Given the description of an element on the screen output the (x, y) to click on. 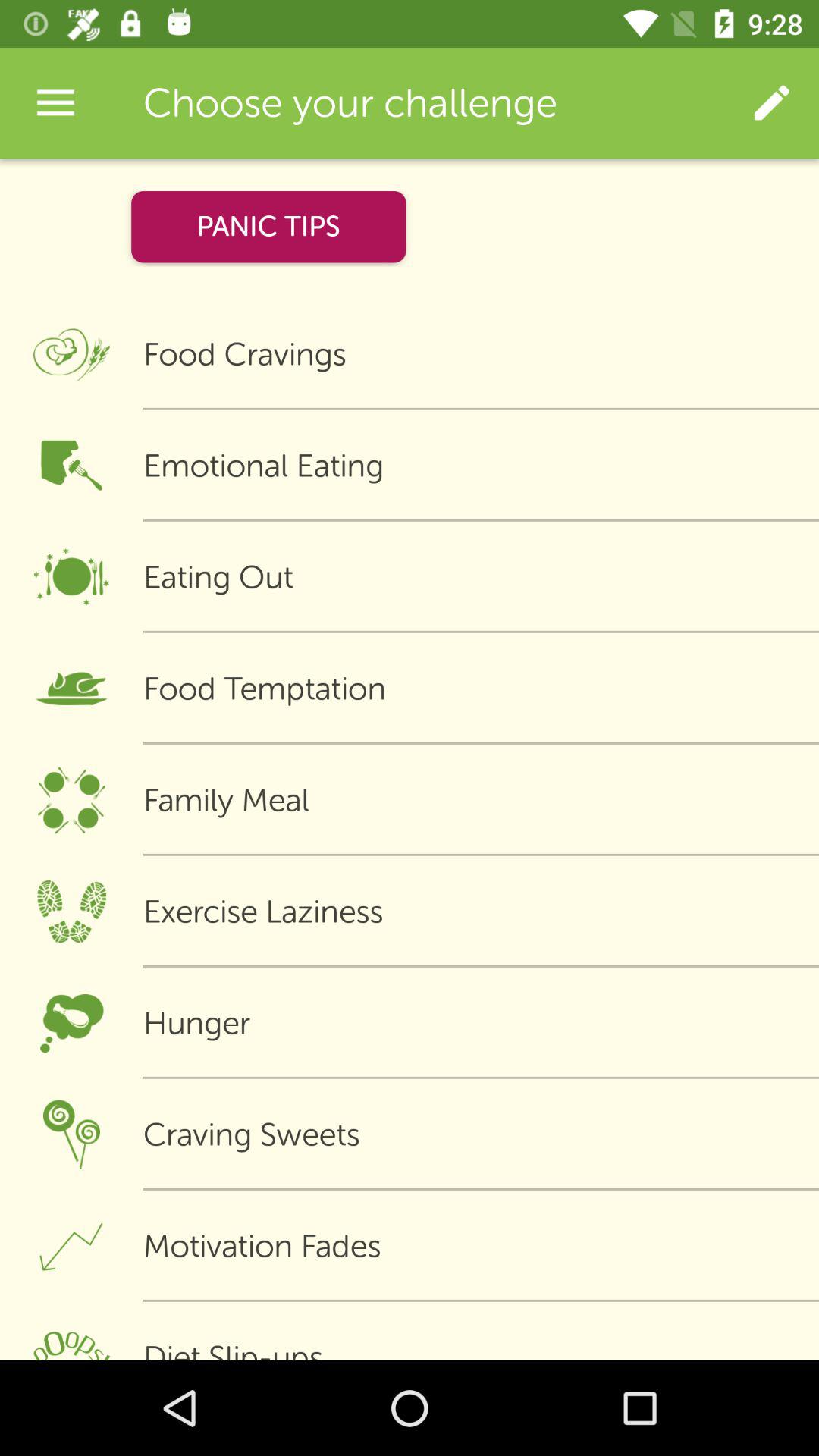
press icon above food cravings (268, 226)
